Given the description of an element on the screen output the (x, y) to click on. 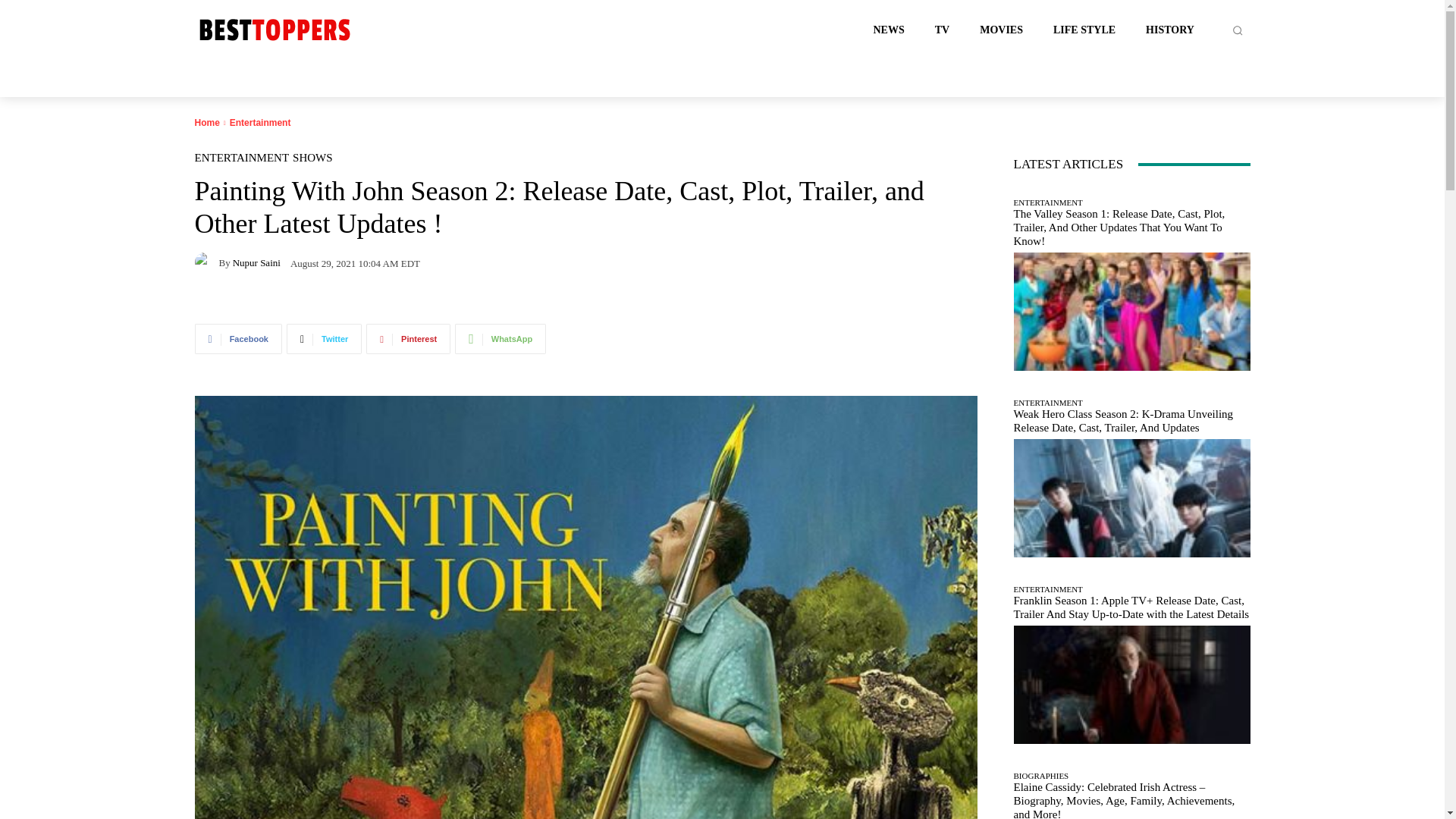
LIFE STYLE (1083, 30)
Entertainment (260, 122)
SHOWS (312, 157)
Home (206, 122)
ENTERTAINMENT (240, 157)
